Given the description of an element on the screen output the (x, y) to click on. 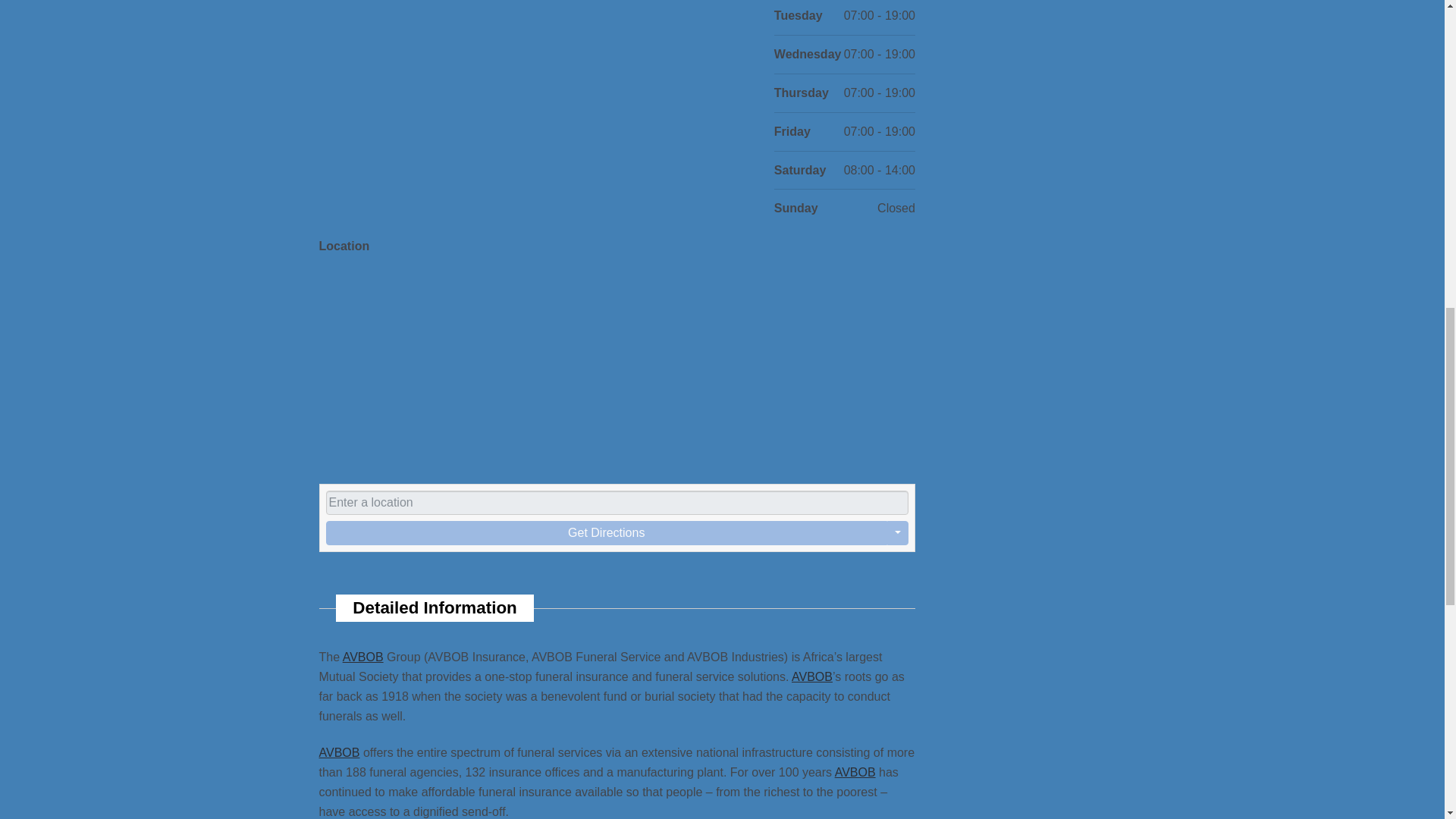
AVBOB (855, 771)
AVBOB (812, 676)
AVBOB (338, 752)
AVBOB (363, 656)
Get Directions (606, 532)
